Given the description of an element on the screen output the (x, y) to click on. 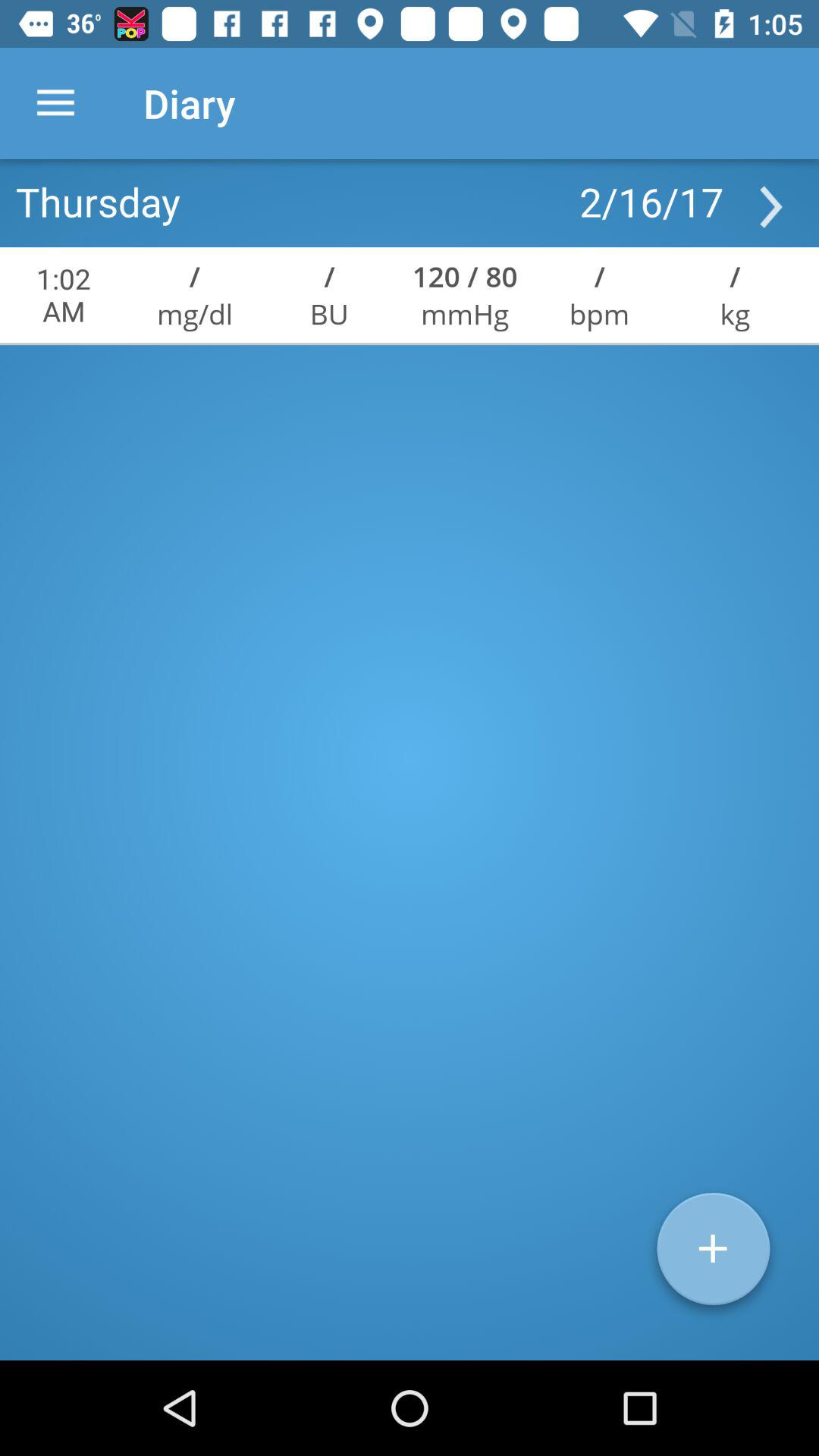
click kg icon (735, 313)
